Given the description of an element on the screen output the (x, y) to click on. 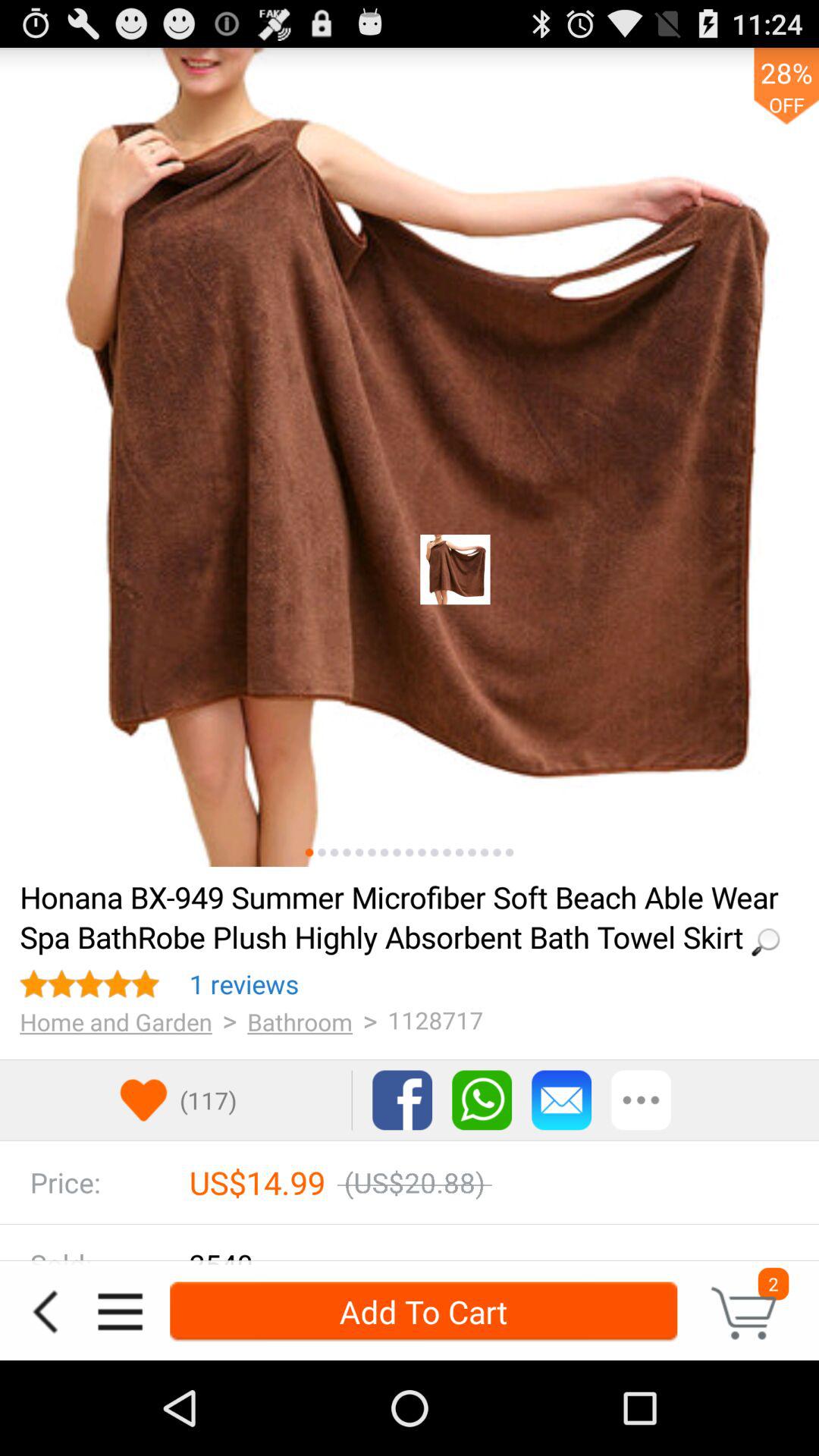
zoom image (396, 852)
